Given the description of an element on the screen output the (x, y) to click on. 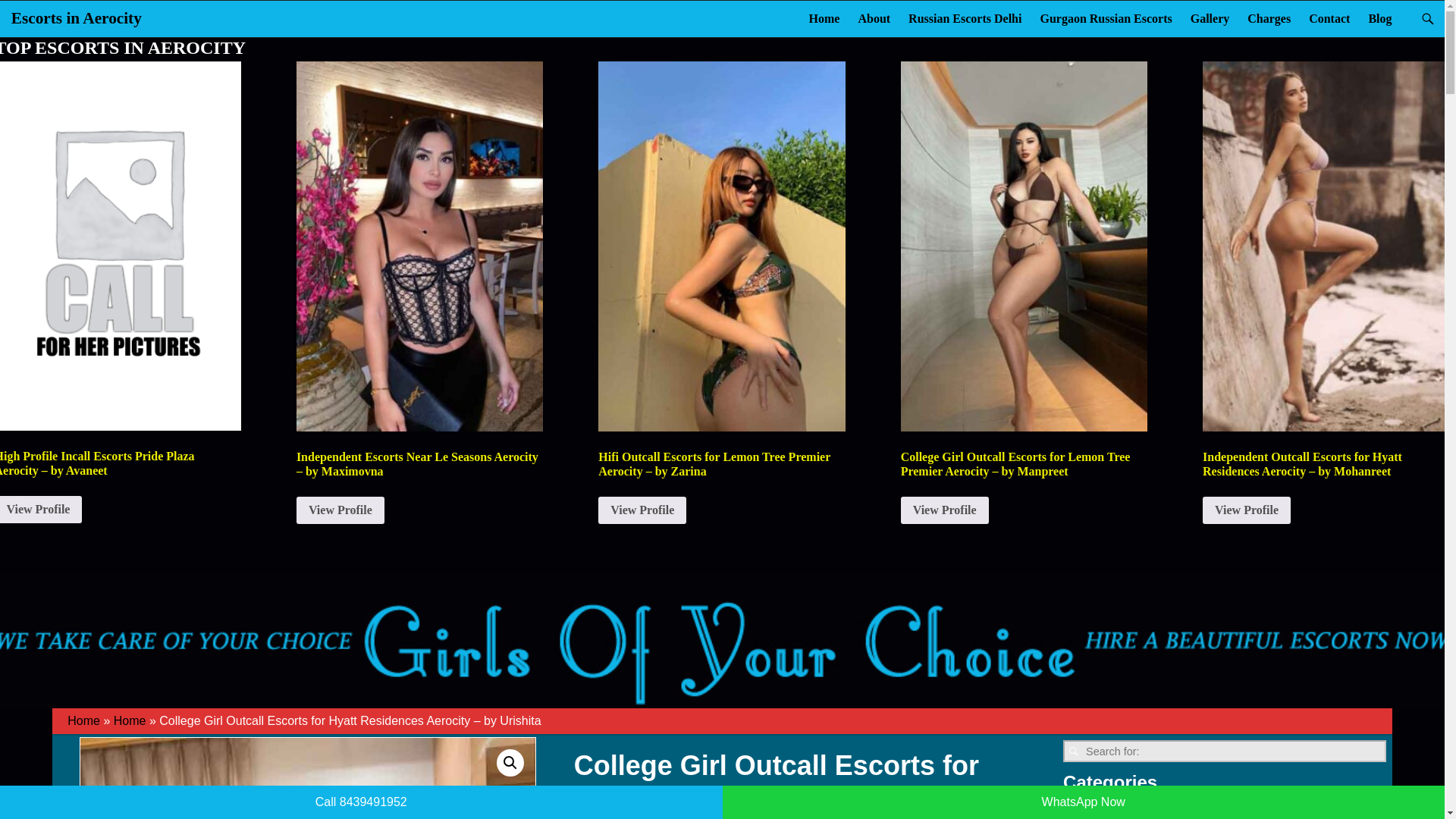
View Profile (944, 510)
Gallery (1209, 17)
View Profile (1246, 510)
Home (83, 720)
View Profile (641, 510)
Russian Escorts Delhi (964, 17)
Charges (1269, 17)
urishita (307, 778)
Home (130, 720)
About (873, 17)
View Profile (340, 510)
Home (823, 17)
View Profile (40, 509)
Blog (1379, 17)
Gurgaon Russian Escorts (1105, 17)
